Given the description of an element on the screen output the (x, y) to click on. 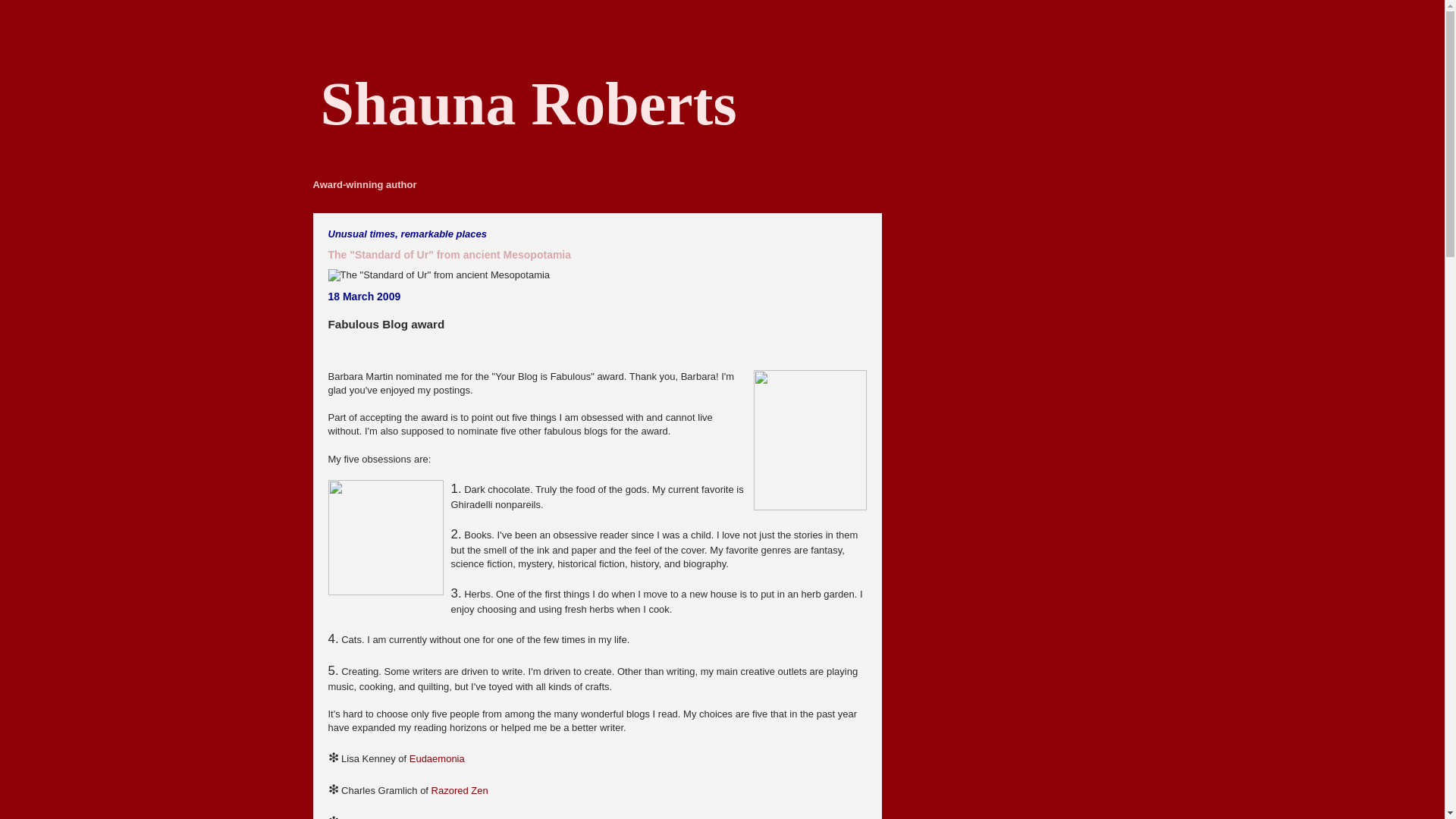
Writing the Renaissance (483, 817)
Razored Zen (458, 790)
Eudaemonia (436, 758)
Shauna Roberts (528, 103)
